Given the description of an element on the screen output the (x, y) to click on. 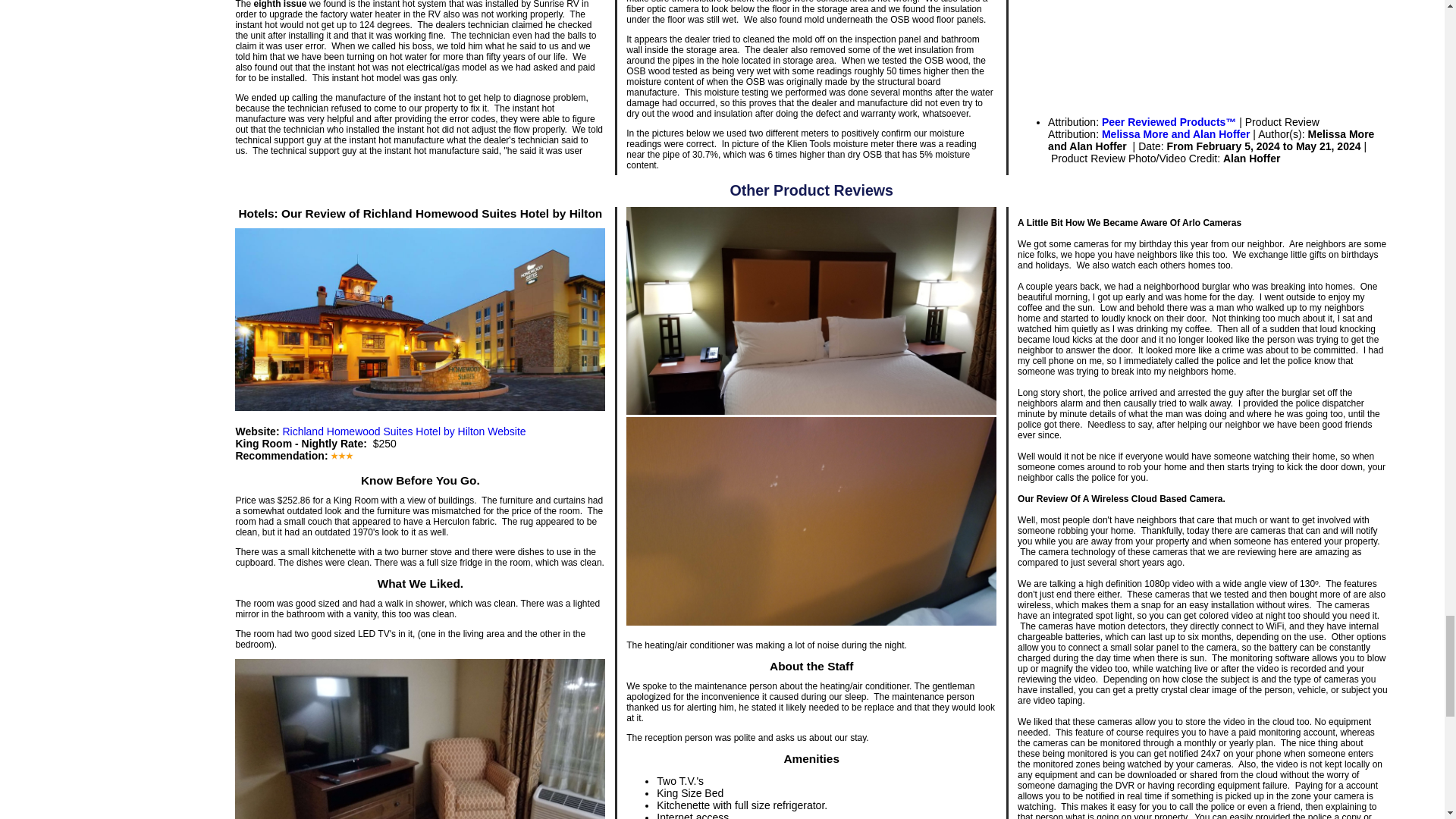
Richland Homewood Suites Hotel by Hilton Website (403, 431)
Melissa More and Alan Hoffer (1176, 133)
